Given the description of an element on the screen output the (x, y) to click on. 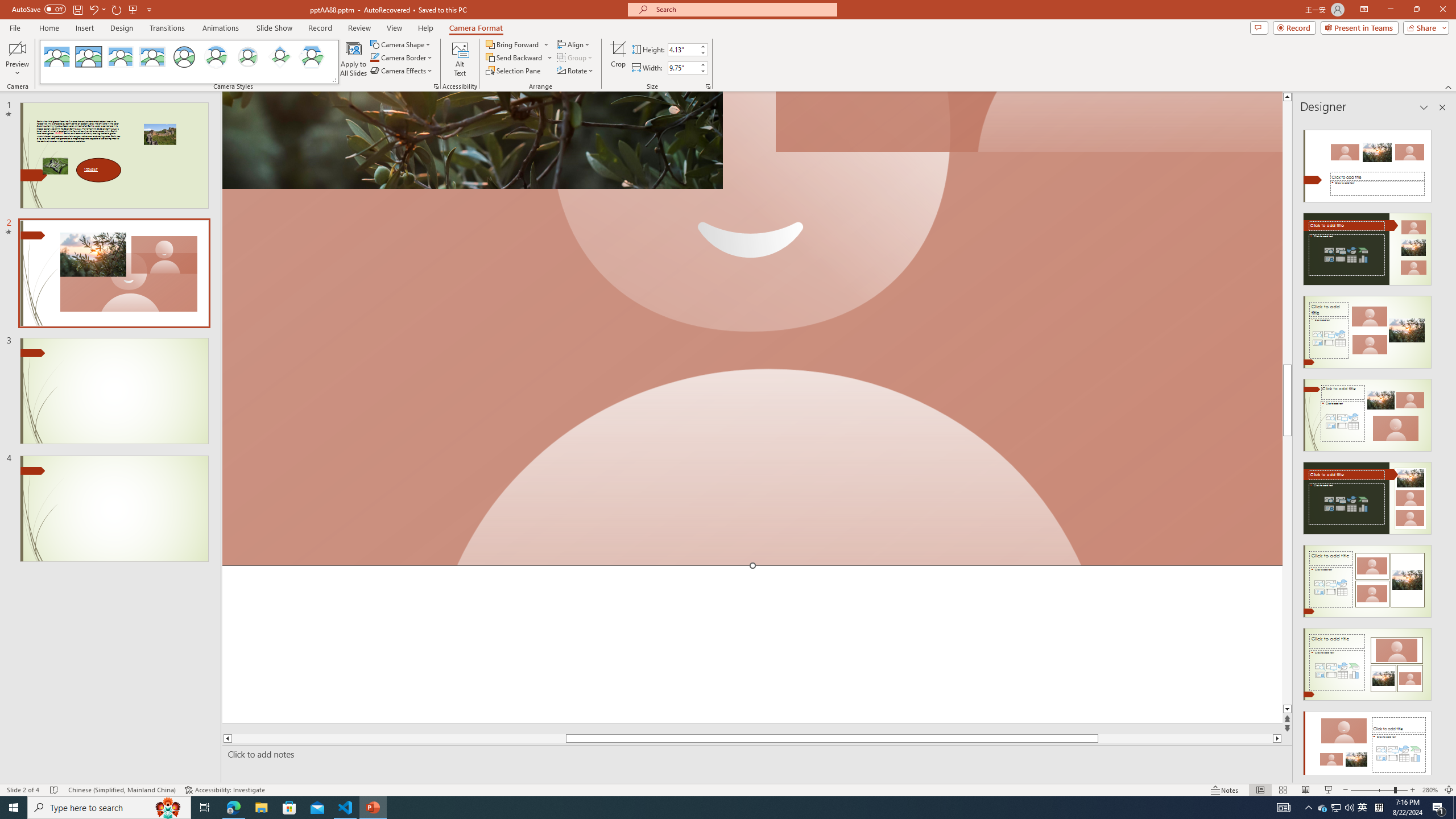
Class: Net UI Tool Window (189, 62)
Camera Effects (402, 69)
Close up of an olive branch on a sunset (472, 140)
Selection Pane... (513, 69)
Recommended Design: Design Idea (1366, 162)
Align (574, 44)
Send Backward (514, 56)
